Given the description of an element on the screen output the (x, y) to click on. 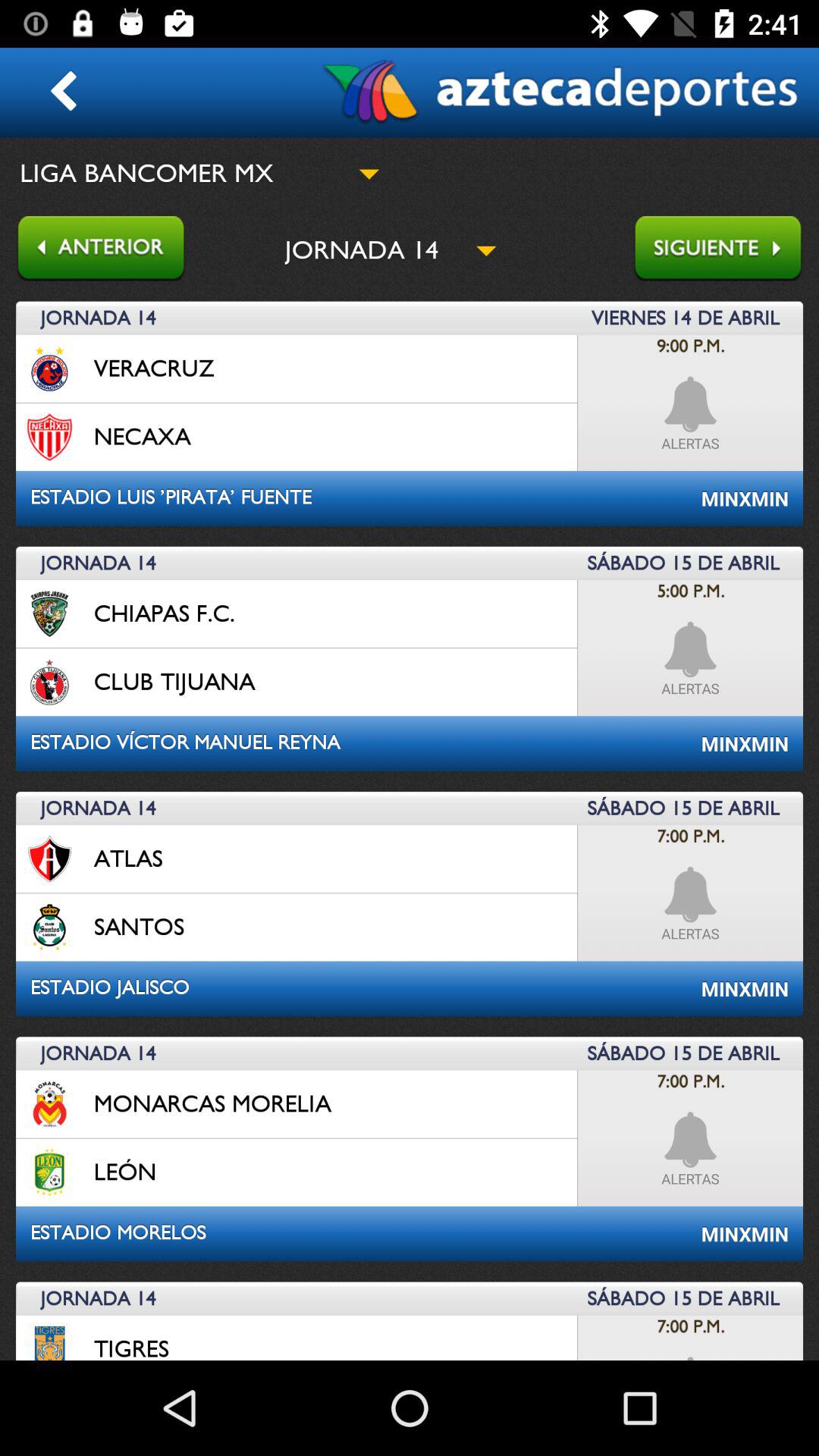
go to next (726, 249)
